Given the description of an element on the screen output the (x, y) to click on. 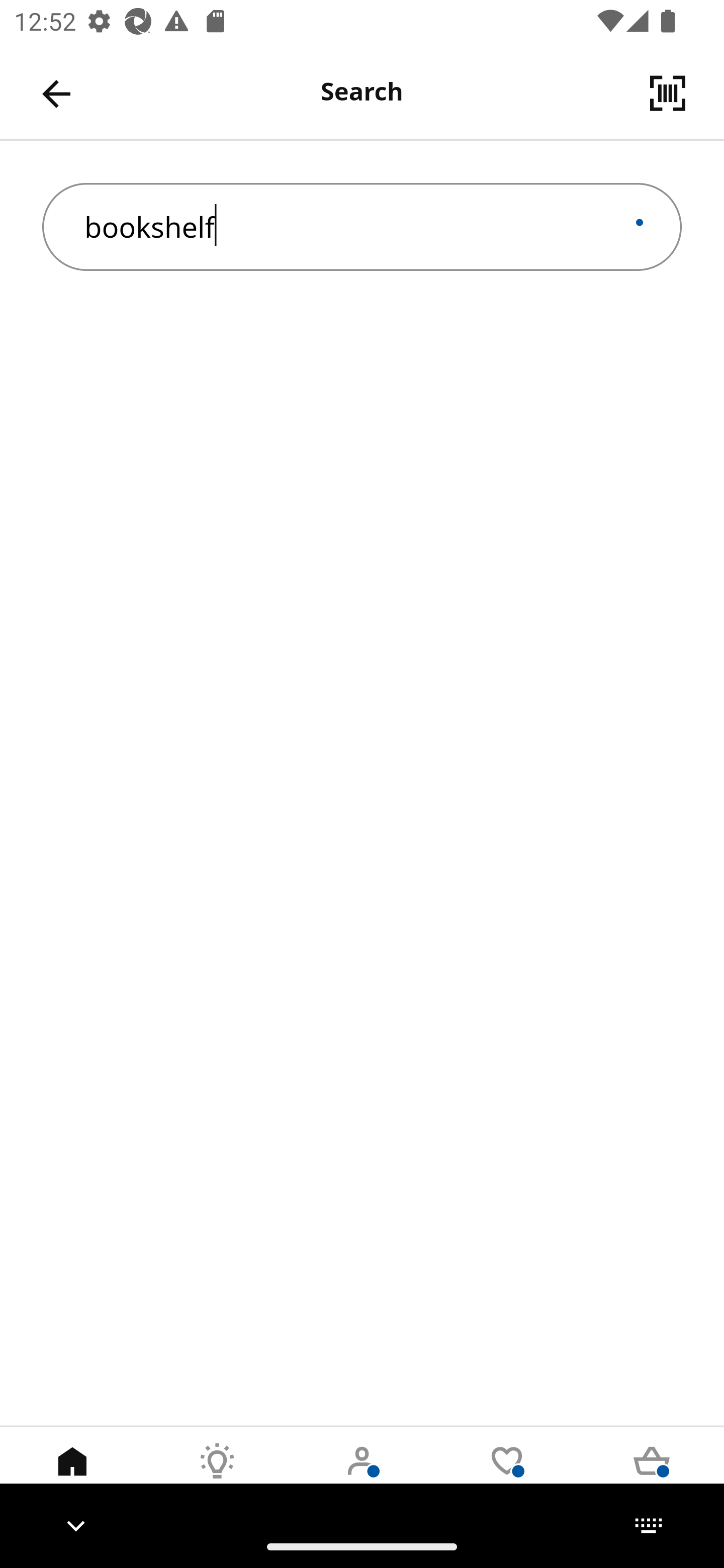
bookshelf (361, 227)
Home
Tab 1 of 5 (72, 1476)
Inspirations
Tab 2 of 5 (216, 1476)
User
Tab 3 of 5 (361, 1476)
Wishlist
Tab 4 of 5 (506, 1476)
Cart
Tab 5 of 5 (651, 1476)
